Given the description of an element on the screen output the (x, y) to click on. 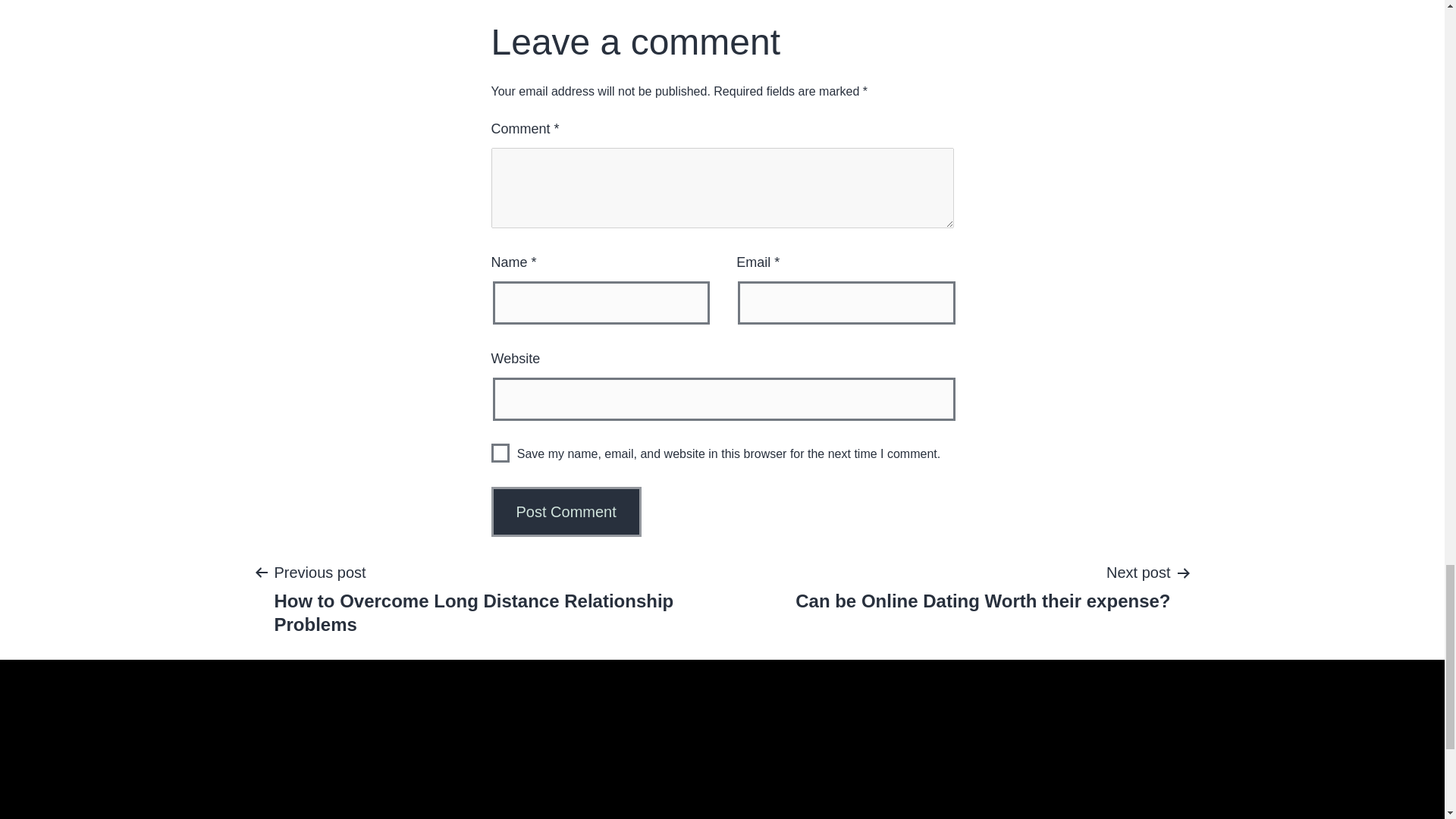
yes (500, 452)
Post Comment (567, 511)
Post Comment (982, 585)
